Given the description of an element on the screen output the (x, y) to click on. 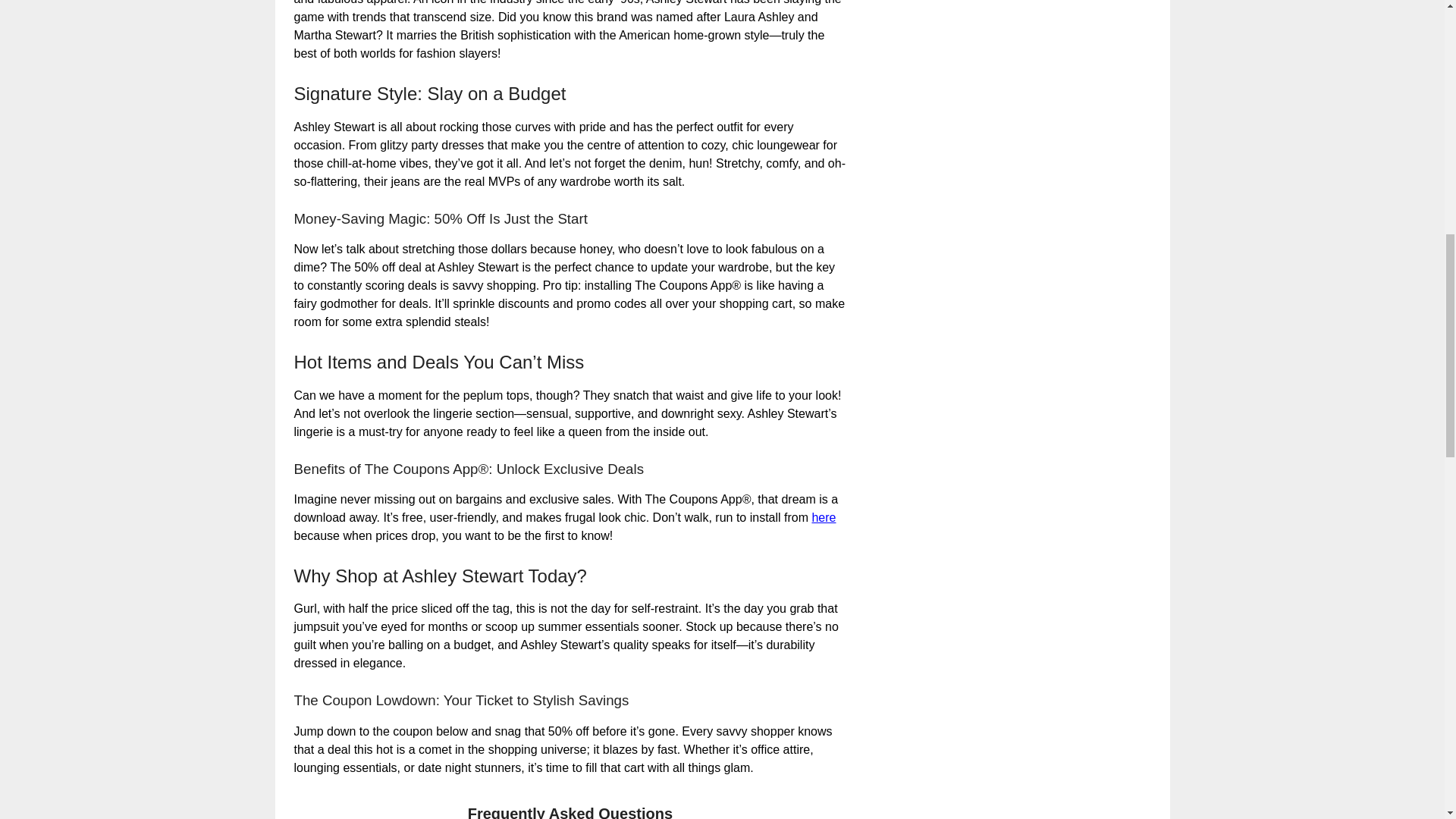
here (822, 517)
